Given the description of an element on the screen output the (x, y) to click on. 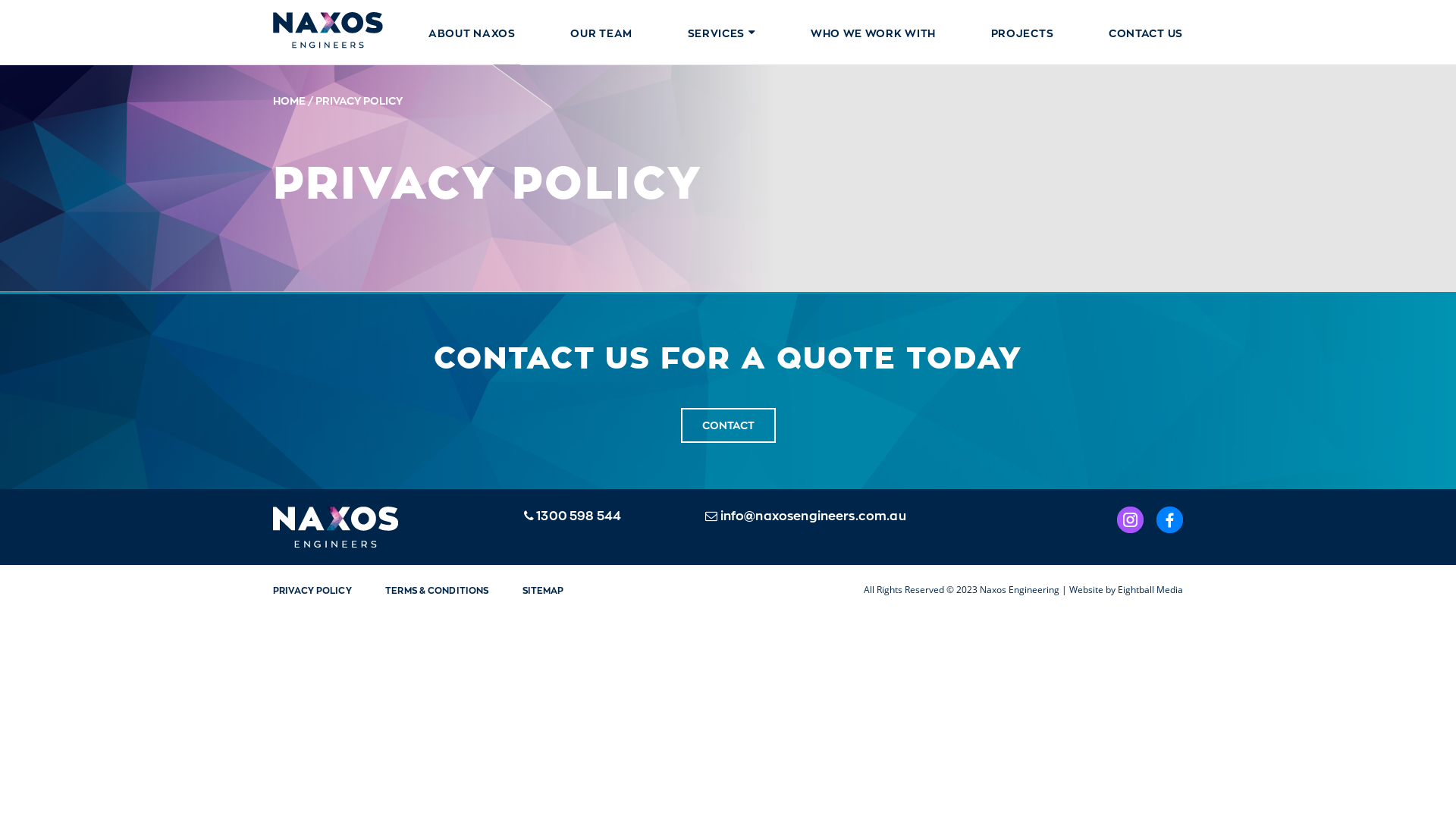
1300 598 544 Element type: text (572, 515)
PRIVACY POLICY Element type: text (312, 590)
CONTACT US Element type: text (1145, 32)
HOME Element type: text (289, 100)
ABOUT NAXOS Element type: text (471, 32)
OUR TEAM Element type: text (601, 32)
SITEMAP Element type: text (543, 590)
CONTACT Element type: text (727, 424)
Eightball Media Element type: text (1150, 589)
WHO WE WORK WITH Element type: text (872, 32)
info@naxosengineers.com.au Element type: text (805, 515)
PROJECTS Element type: text (1022, 32)
SERVICES Element type: text (721, 32)
TERMS & CONDITIONS Element type: text (436, 590)
